Given the description of an element on the screen output the (x, y) to click on. 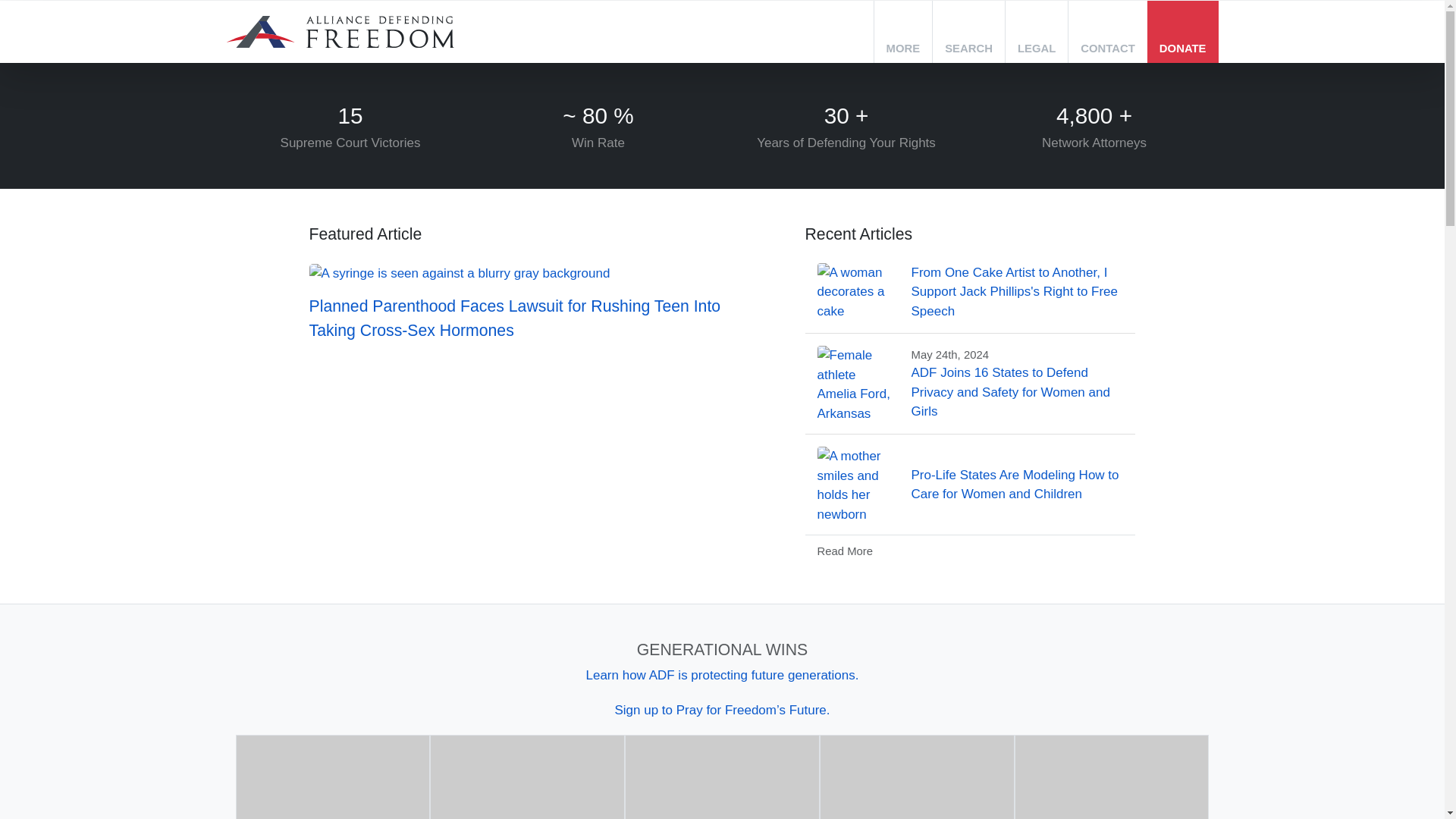
CONTACT (1107, 31)
MORE (904, 31)
LEGAL (1036, 31)
DONATE (1182, 31)
SEARCH (968, 31)
Home (338, 31)
